Given the description of an element on the screen output the (x, y) to click on. 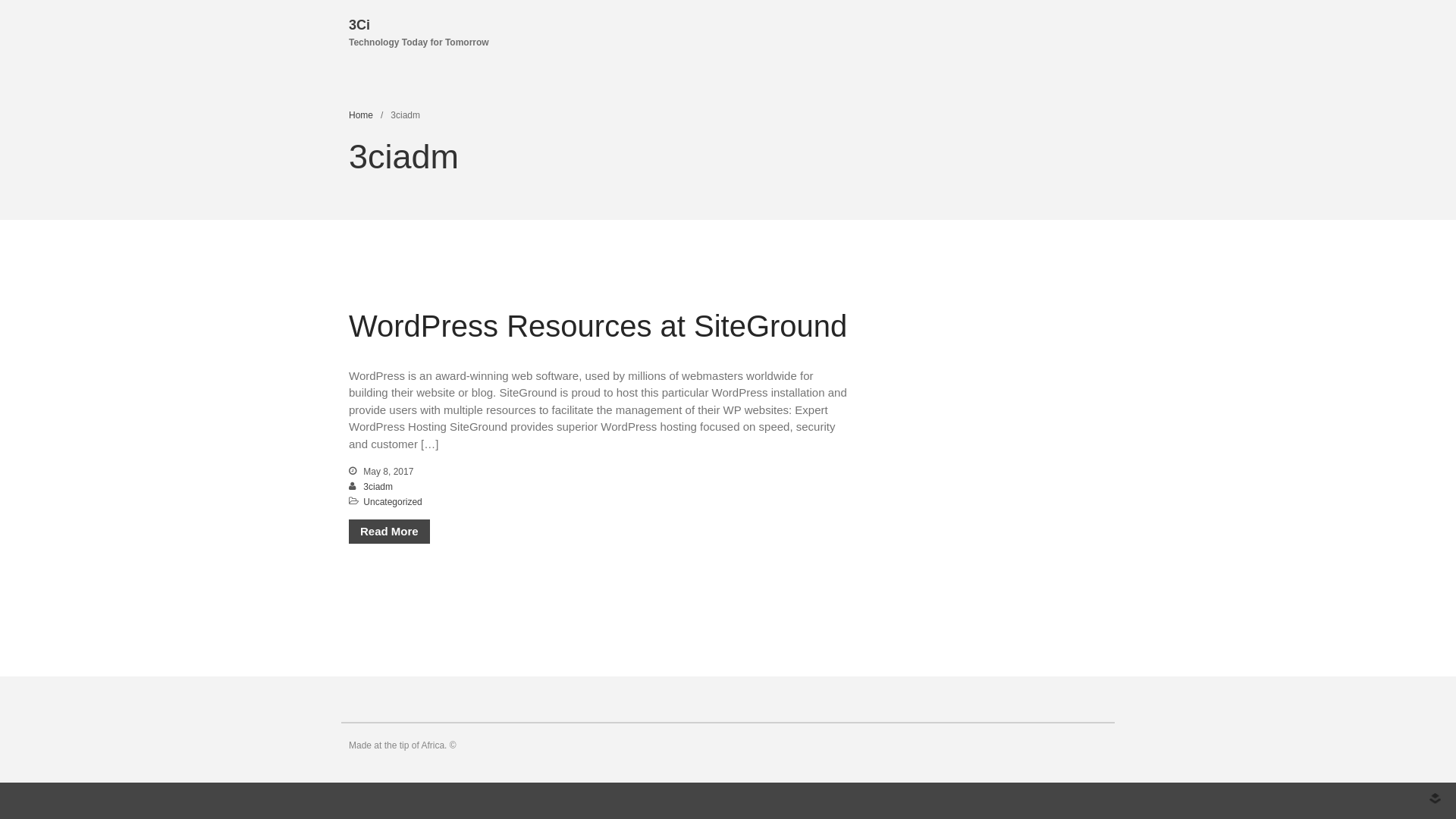
Home Element type: text (360, 114)
3Ci Element type: text (359, 24)
WordPress Resources at SiteGround Element type: text (597, 325)
Read More Element type: text (388, 531)
Uncategorized Element type: text (392, 501)
3ciadm Element type: text (377, 486)
